Given the description of an element on the screen output the (x, y) to click on. 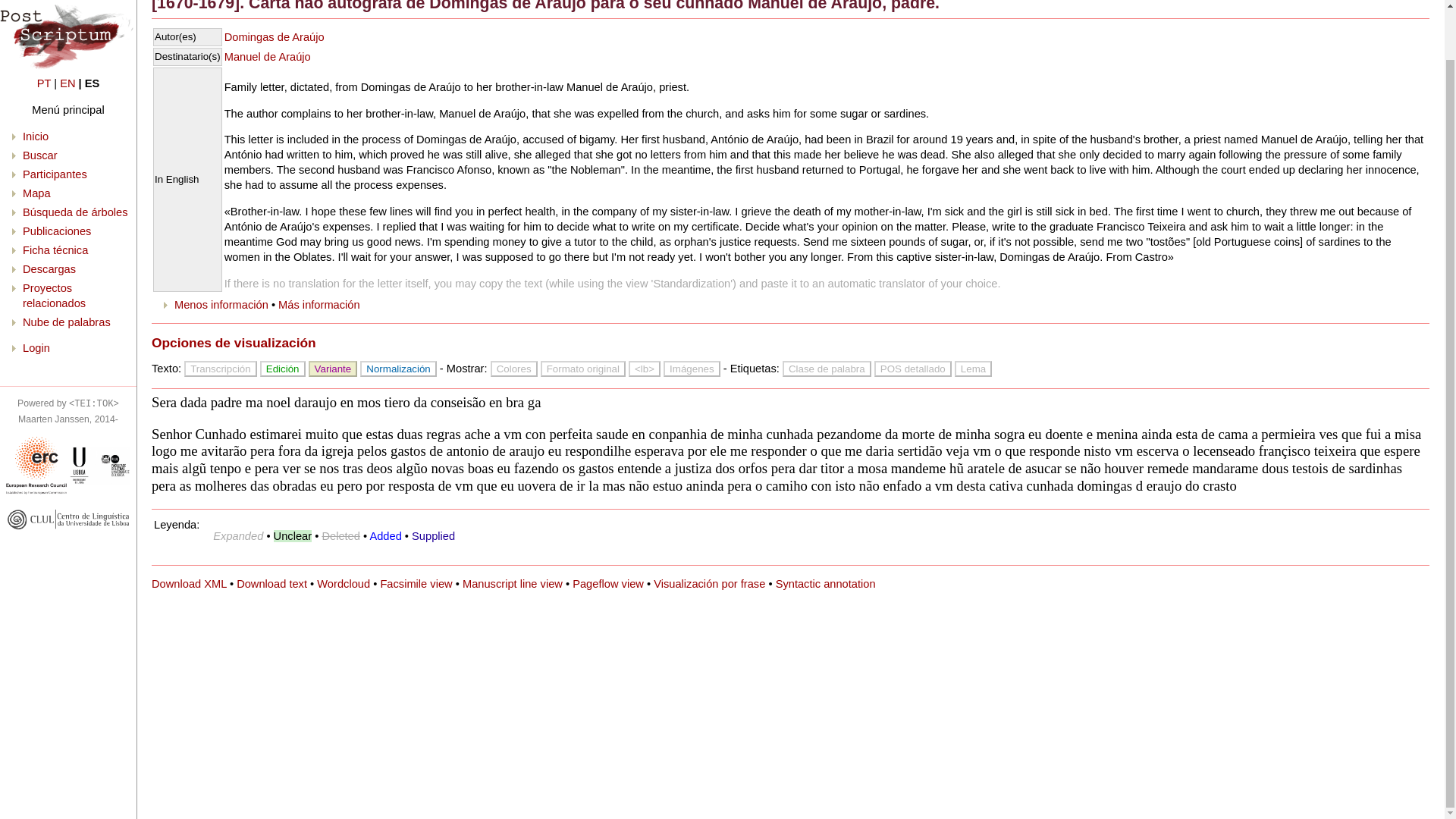
Clase de palabra (826, 368)
format breaks (583, 368)
Wordcloud (343, 583)
Inicio (35, 82)
EN (67, 30)
Colores (513, 368)
POS detallado (913, 368)
Publicaciones (56, 177)
Nube de palabras (66, 268)
Participantes (55, 121)
Manuscript line view (512, 583)
Mapa (36, 140)
Pageflow view (607, 583)
Lema (973, 368)
Variante (333, 368)
